Given the description of an element on the screen output the (x, y) to click on. 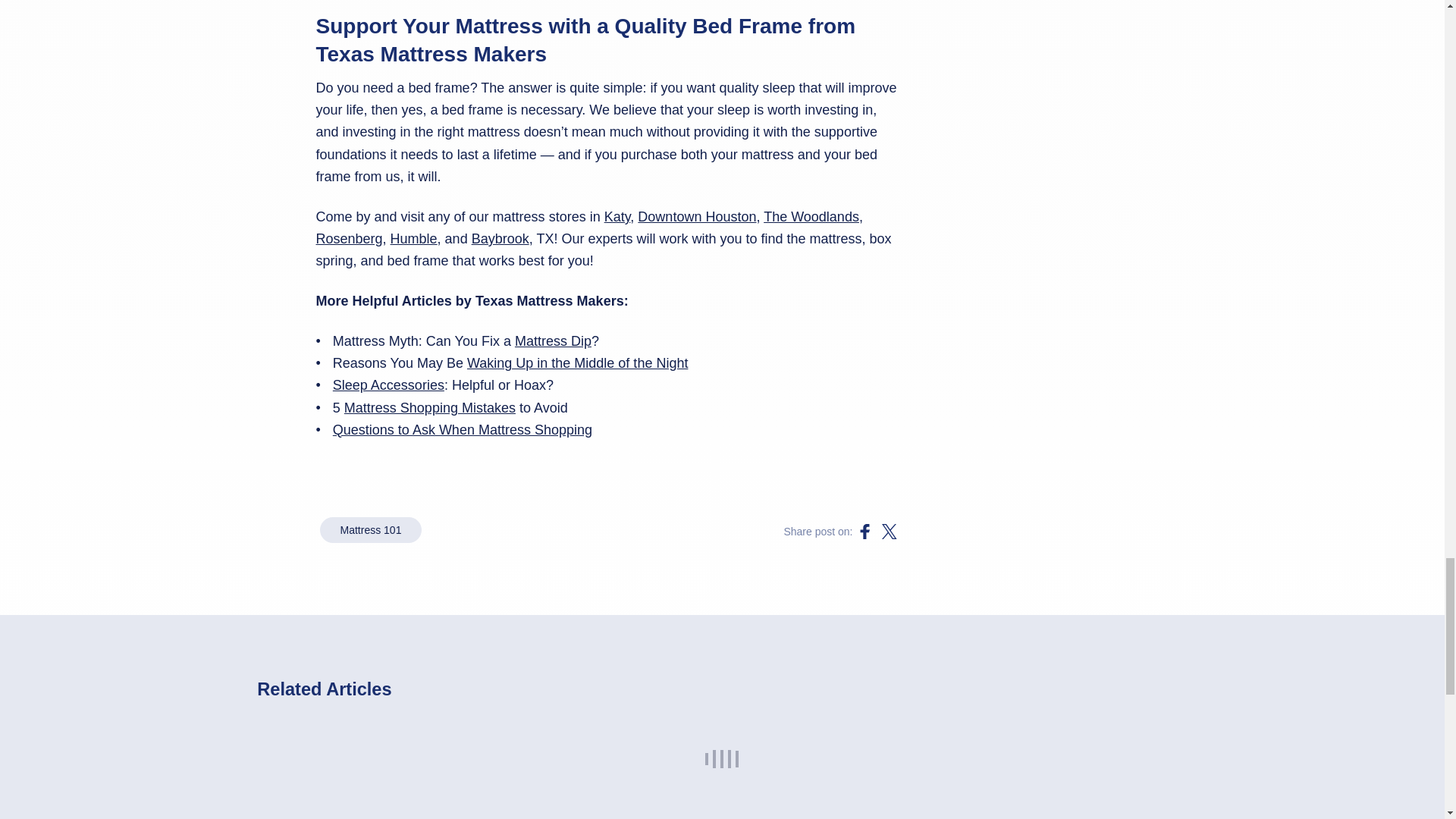
Humble (414, 238)
Rosenberg (348, 238)
Katy (617, 216)
Downtown Houston (696, 216)
The Woodlands (810, 216)
